Given the description of an element on the screen output the (x, y) to click on. 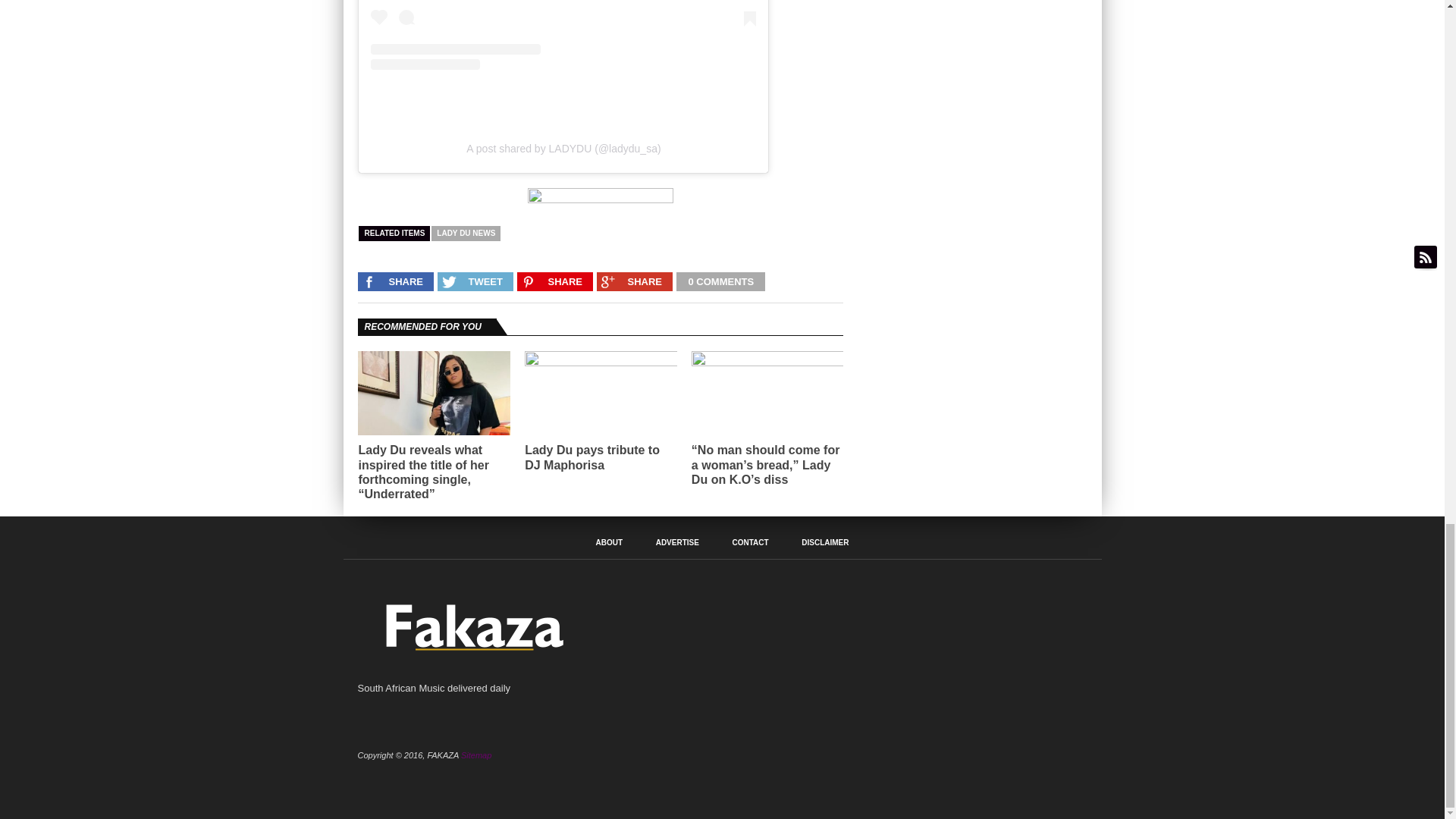
Lady Du pays tribute to DJ Maphorisa (600, 457)
Lady Du pays tribute to DJ Maphorisa (600, 361)
ABOUT (609, 542)
ADVERTISE (677, 542)
LADY DU NEWS (465, 233)
CONTACT (750, 542)
DISCLAIMER (825, 542)
